Given the description of an element on the screen output the (x, y) to click on. 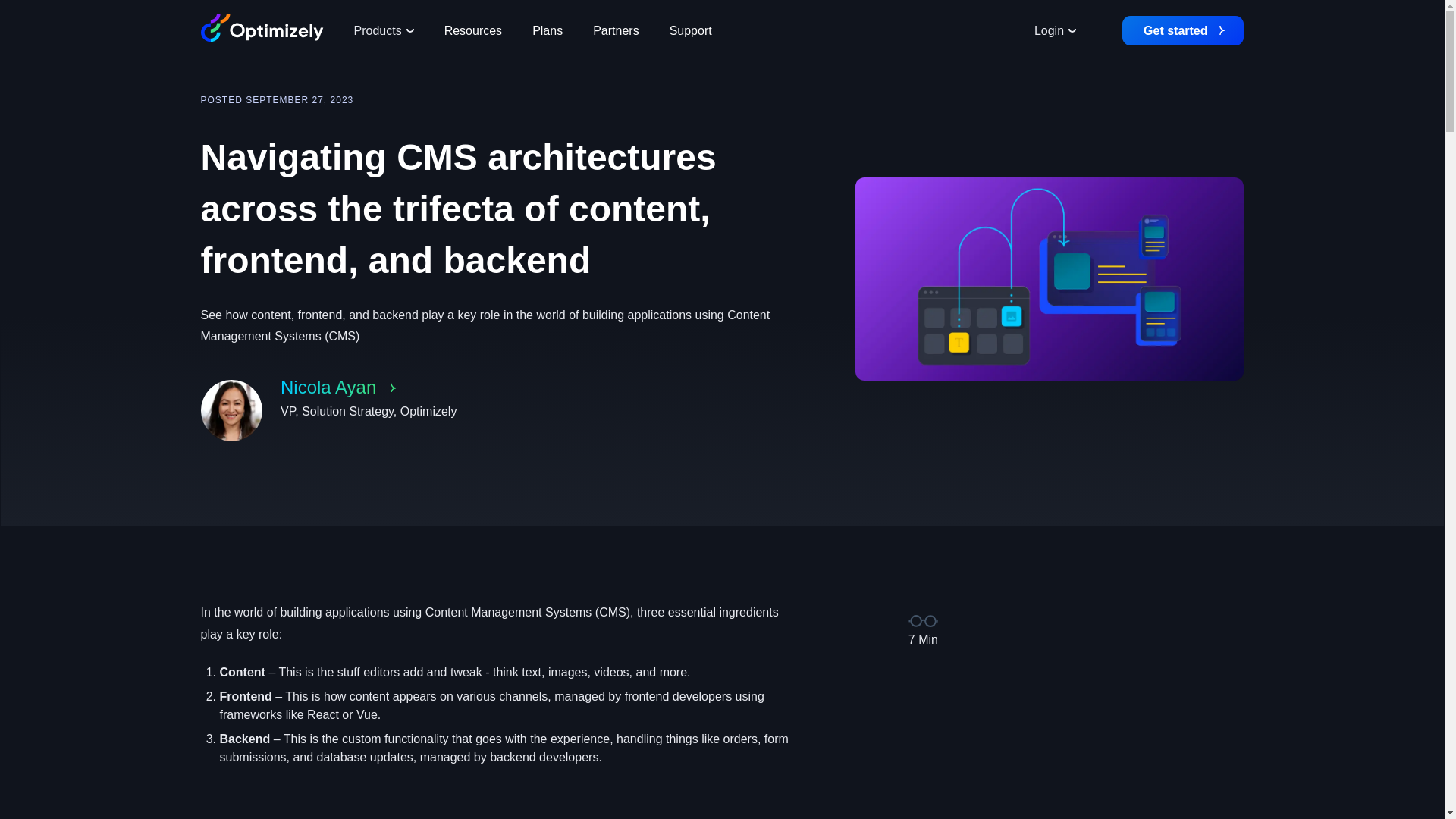
Login (1054, 30)
Plans (547, 30)
Support (501, 417)
Resources (689, 30)
Products (472, 30)
Partners (382, 30)
Optimizely Logo (615, 30)
Optimizely Logo (261, 30)
